Given the description of an element on the screen output the (x, y) to click on. 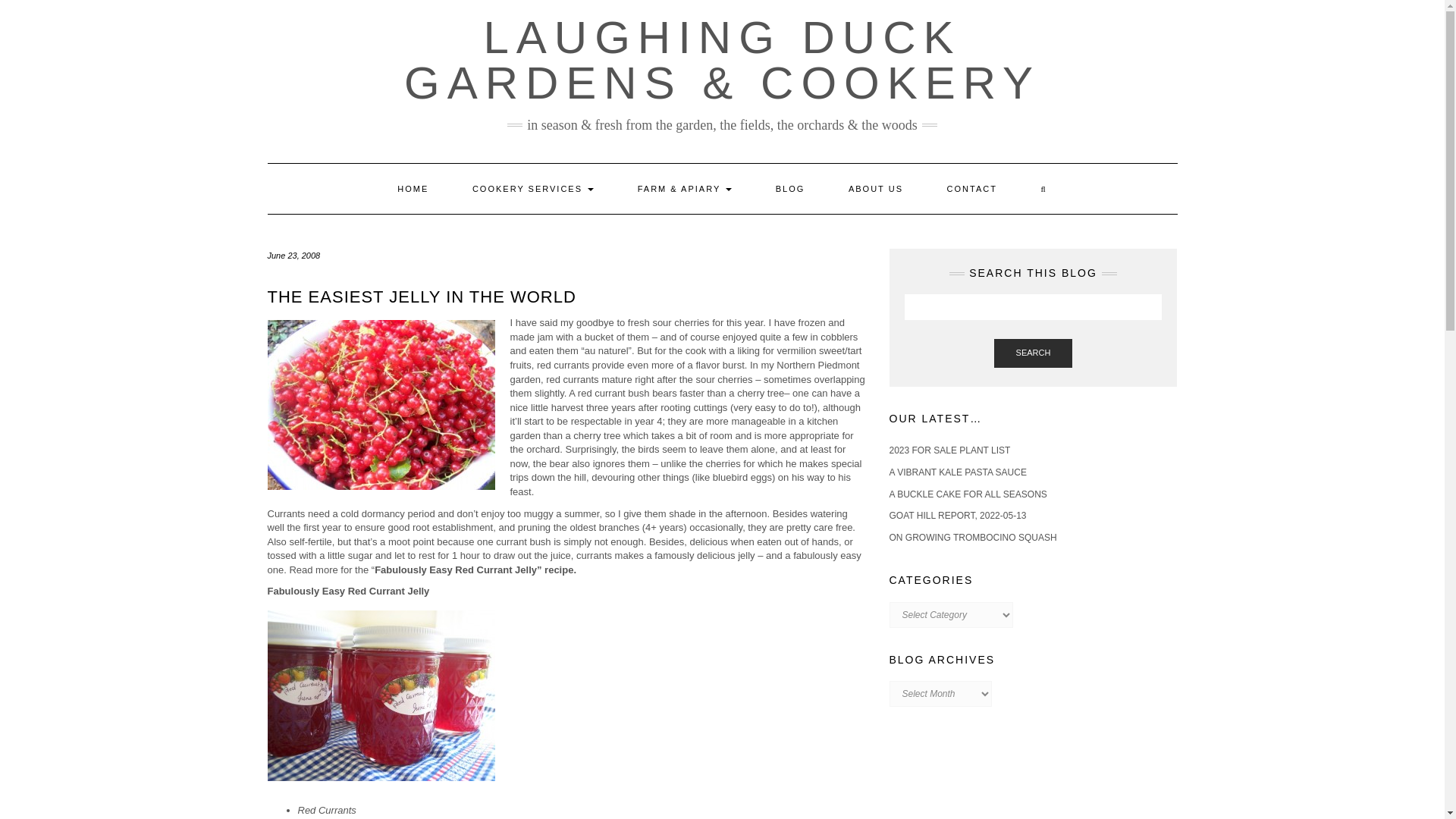
COOKERY SERVICES (532, 188)
A VIBRANT KALE PASTA SAUCE (957, 471)
BLOG (790, 188)
ABOUT US (875, 188)
SEARCH (1033, 353)
CONTACT (971, 188)
A BUCKLE CAKE FOR ALL SEASONS (967, 493)
HOME (412, 188)
GOAT HILL REPORT, 2022-05-13 (957, 515)
ON GROWING TROMBOCINO SQUASH (972, 537)
2023 FOR SALE PLANT LIST (949, 450)
